Given the description of an element on the screen output the (x, y) to click on. 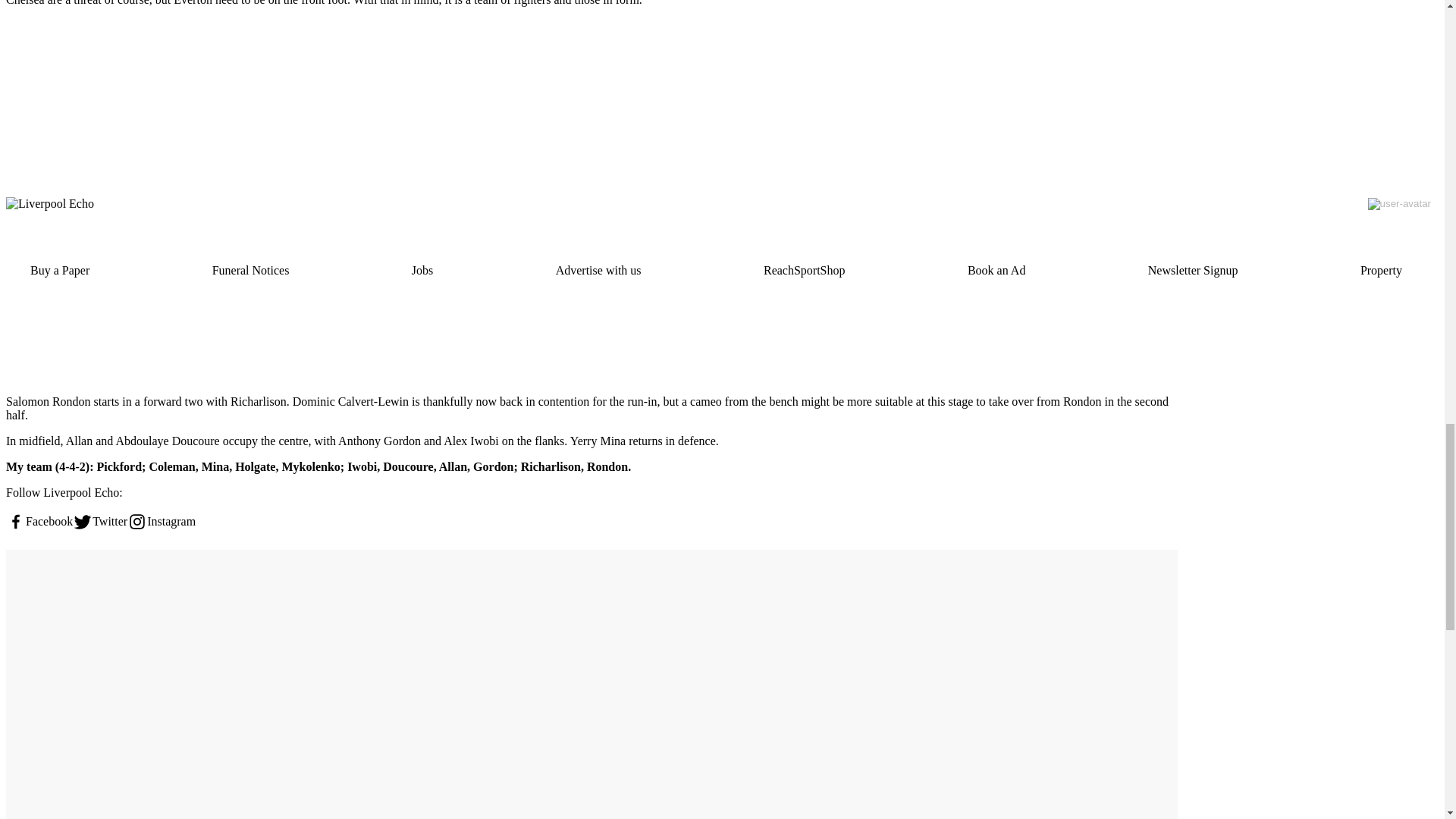
Facebook (38, 521)
Instagram (161, 521)
Twitter (100, 521)
